Given the description of an element on the screen output the (x, y) to click on. 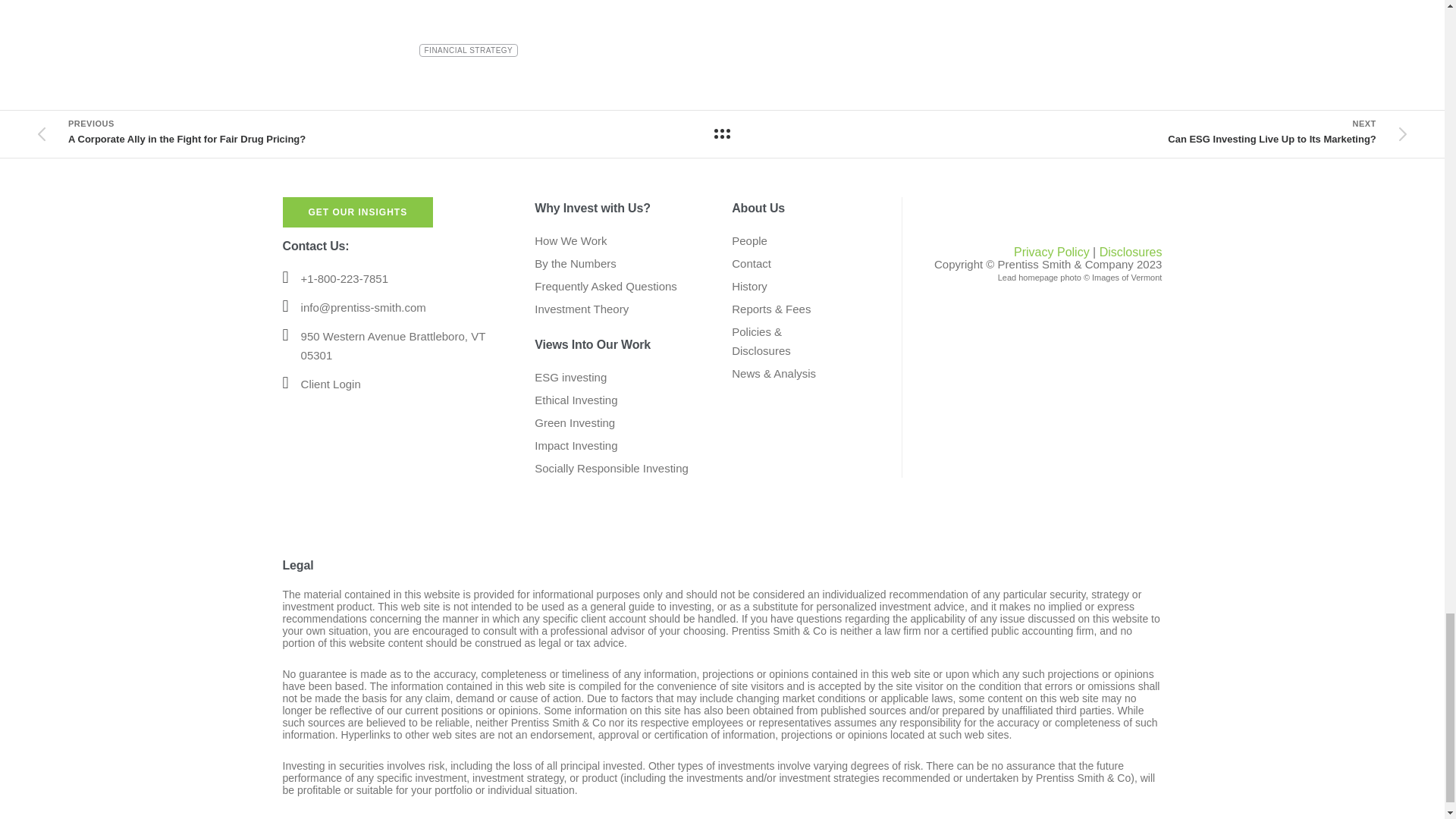
Investment Theory (581, 308)
ESG investing (570, 377)
How We Work (570, 240)
Ethical Investing (575, 399)
950 Western Avenue Brattleboro, VT 05301 (393, 345)
GET OUR INSIGHTS (357, 212)
Investment Theory (581, 308)
Frequently Asked Questions (605, 286)
By the Numbers (574, 263)
How We Work (570, 240)
Impact Investing (575, 445)
Client Login (331, 383)
ESG investing (570, 377)
Green Investing (574, 422)
